Given the description of an element on the screen output the (x, y) to click on. 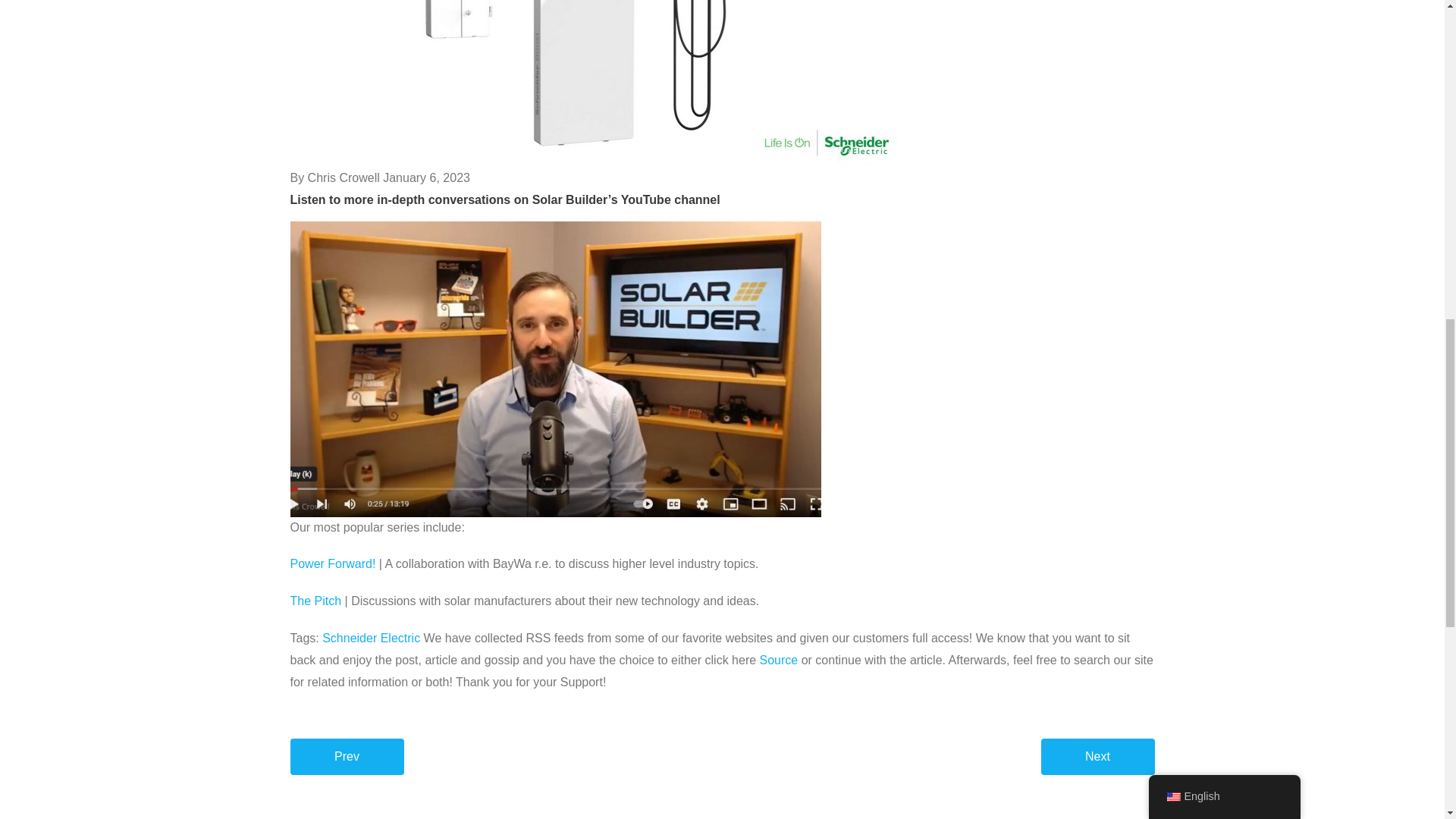
Source (778, 659)
The Pitch (314, 600)
Prev (346, 756)
Schneider Electric (370, 637)
Power Forward! (332, 563)
